Given the description of an element on the screen output the (x, y) to click on. 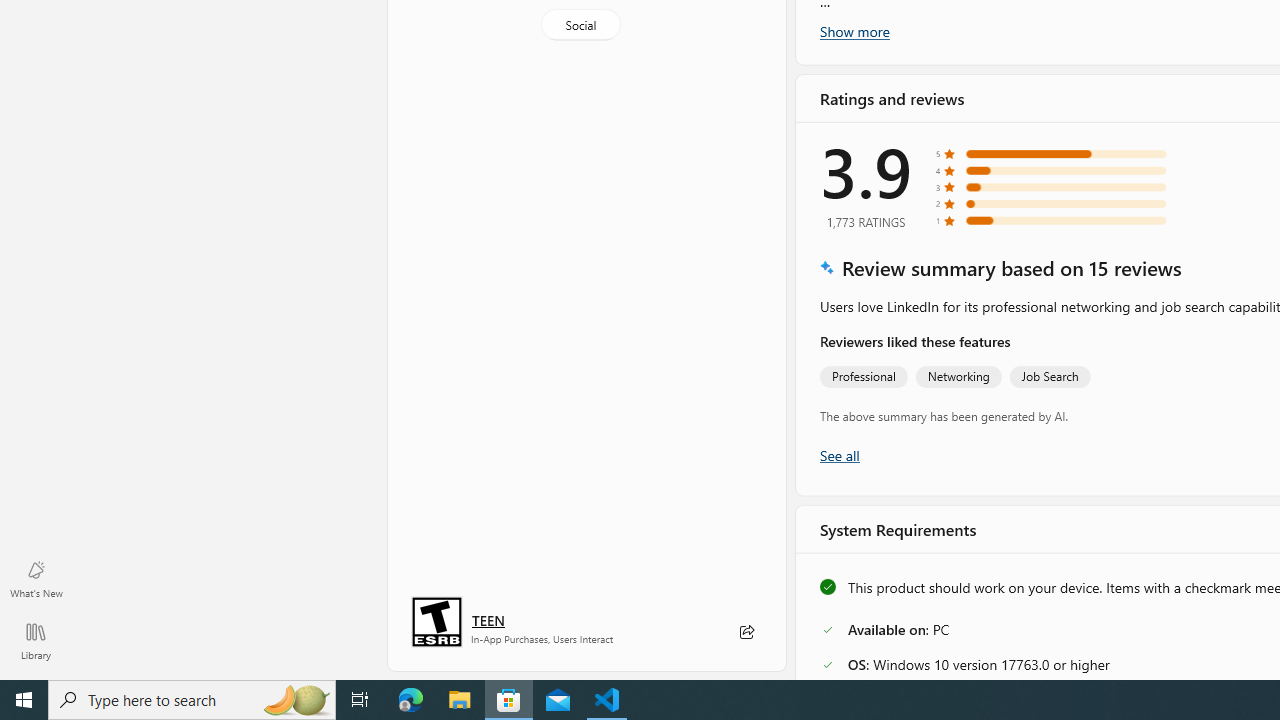
Social (579, 23)
Age rating: TEEN. Click for more information. (488, 619)
Show more (854, 31)
Library (35, 640)
Show all ratings and reviews (838, 454)
Share (746, 632)
What's New (35, 578)
